Given the description of an element on the screen output the (x, y) to click on. 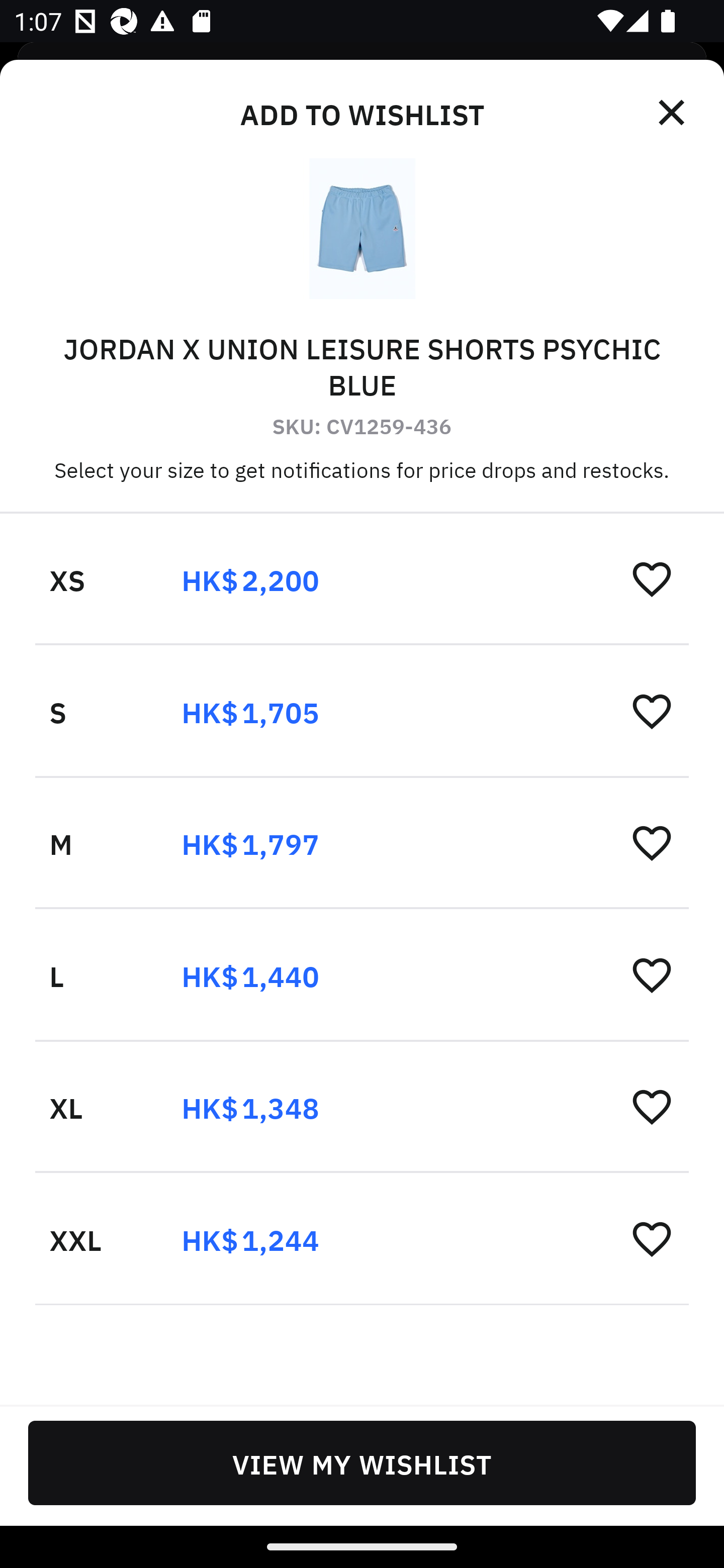
 (672, 112)
󰋕 (651, 578)
󰋕 (651, 710)
󰋕 (651, 842)
󰋕 (651, 974)
󰋕 (651, 1105)
󰋕 (651, 1237)
VIEW MY WISHLIST (361, 1462)
